Given the description of an element on the screen output the (x, y) to click on. 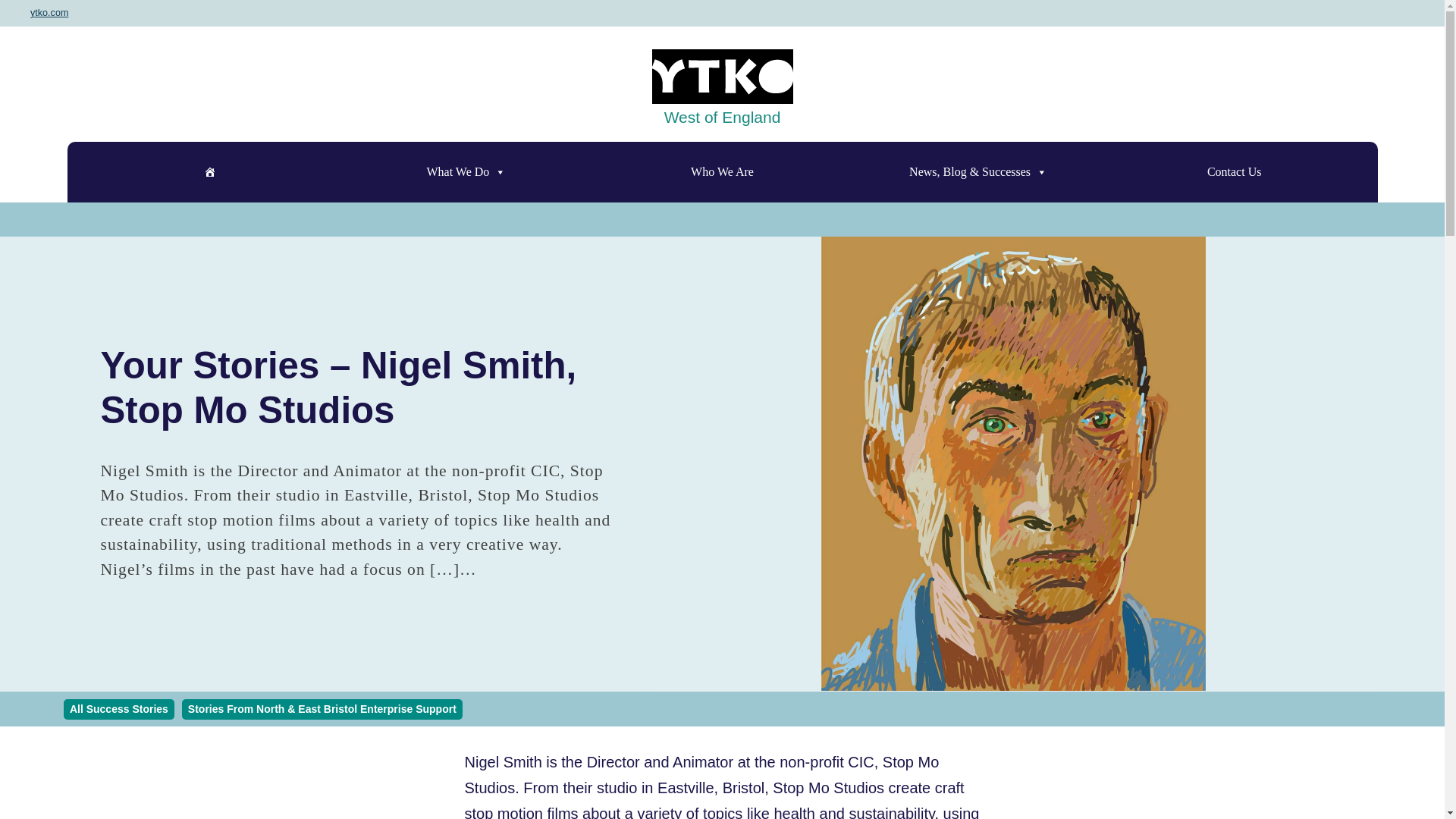
West of England (721, 117)
All Success Stories (119, 709)
Who We Are (722, 172)
What We Do (465, 172)
ytko.com (49, 12)
Contact Us (1234, 172)
YTKO West of England - Home (721, 117)
